Given the description of an element on the screen output the (x, y) to click on. 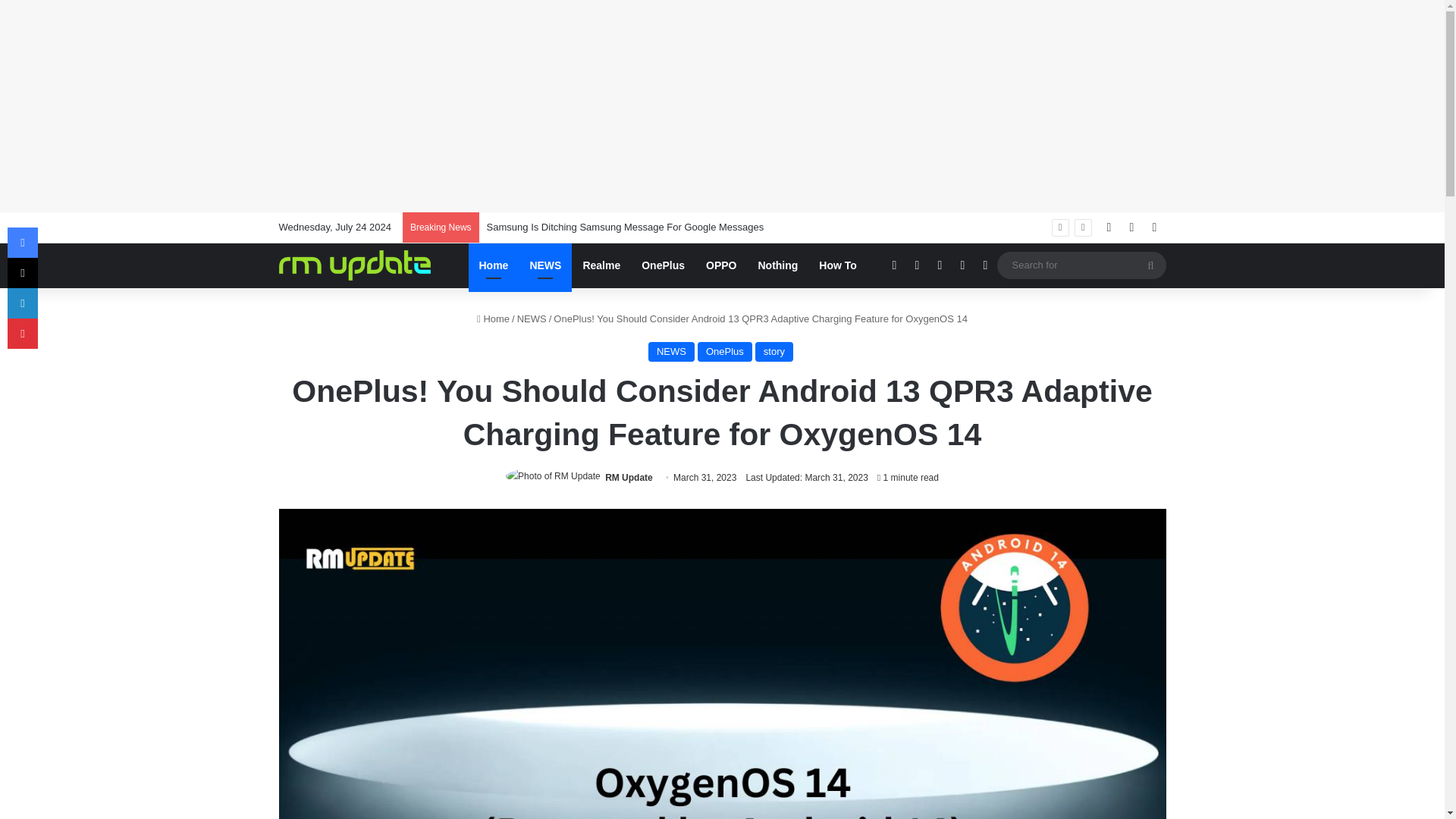
RM Update (628, 477)
Search for (1150, 265)
Realme (601, 265)
How To (837, 265)
NEWS (531, 318)
Home (493, 265)
Samsung Is Ditching Samsung Message For Google Messages (625, 226)
Search for (1080, 264)
OPPO (720, 265)
OnePlus (662, 265)
NEWS (545, 265)
RM Update News (354, 265)
RM Update (628, 477)
NEWS (670, 351)
